Given the description of an element on the screen output the (x, y) to click on. 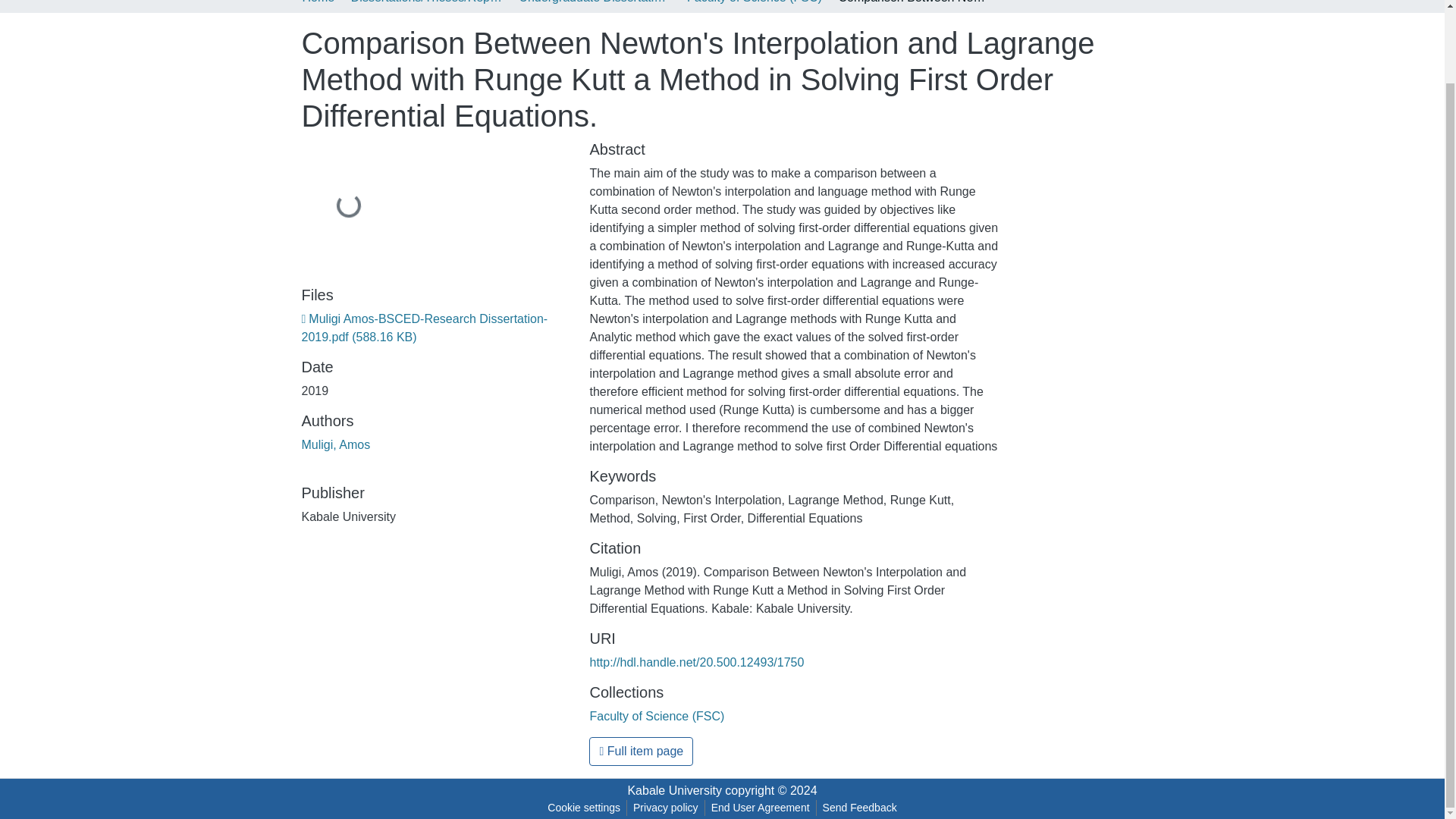
Home (317, 3)
Muligi, Amos (336, 444)
Send Feedback (859, 807)
Kabale University (674, 789)
Cookie settings (583, 807)
End User Agreement (759, 807)
Privacy policy (665, 807)
Undergraduate Dissertations (593, 3)
Full item page (641, 751)
